Given the description of an element on the screen output the (x, y) to click on. 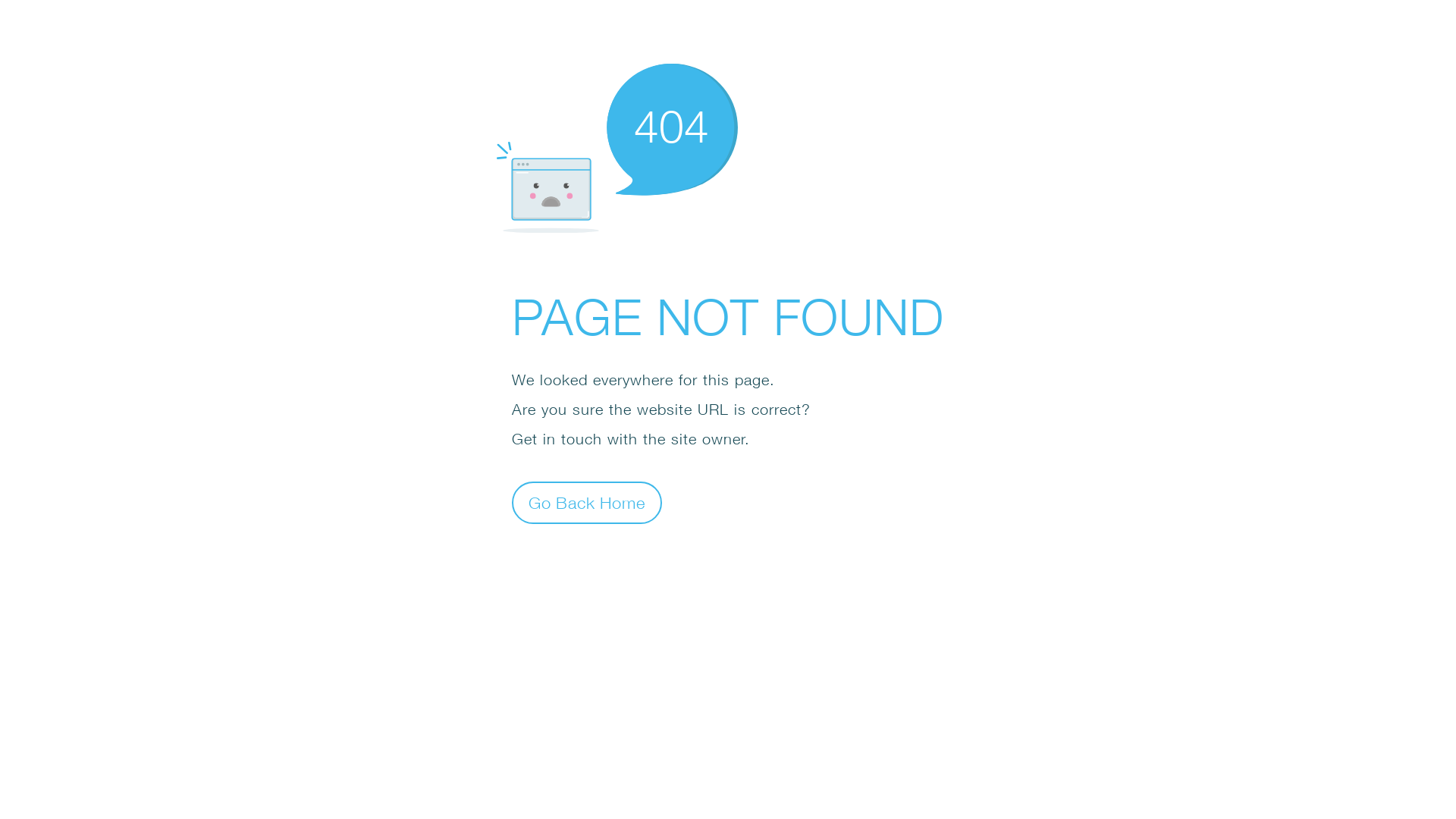
Go Back Home Element type: text (586, 502)
